Given the description of an element on the screen output the (x, y) to click on. 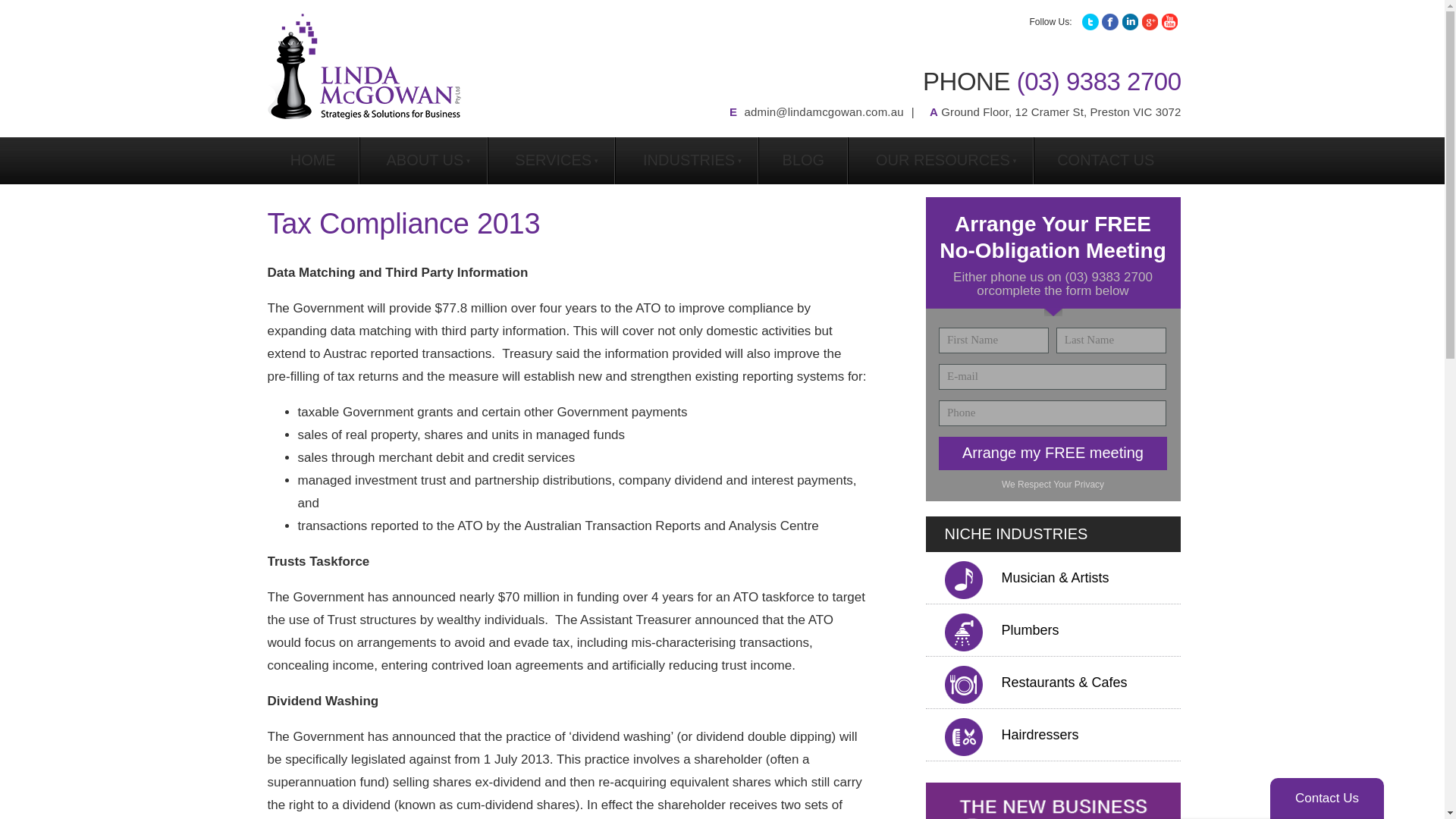
ABOUT US (422, 160)
SERVICES (550, 160)
HOME (312, 160)
